Given the description of an element on the screen output the (x, y) to click on. 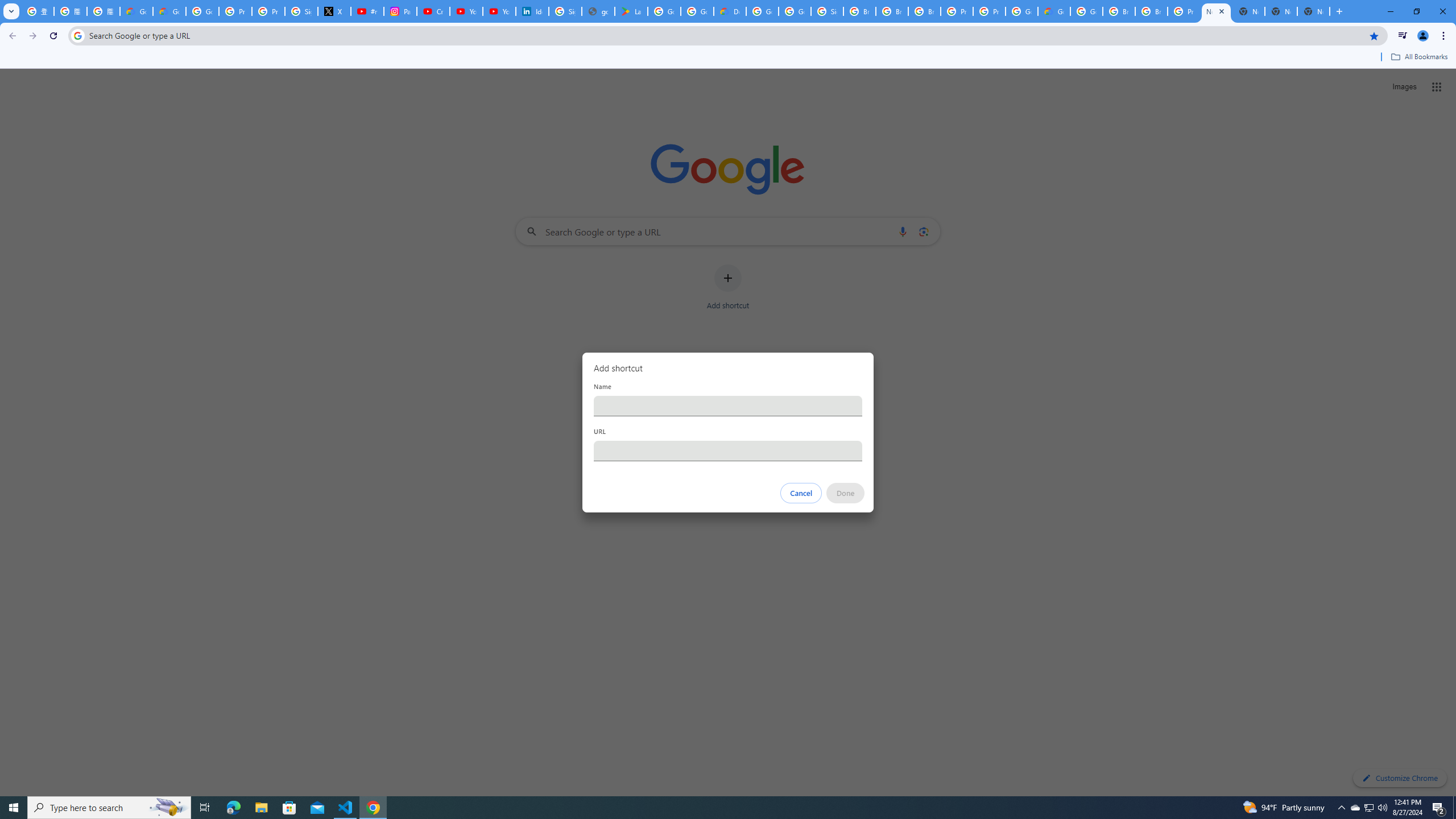
Google Cloud Privacy Notice (169, 11)
Sign in - Google Accounts (564, 11)
All Bookmarks (1418, 56)
Browse Chrome as a guest - Computer - Google Chrome Help (859, 11)
Google Cloud Platform (1086, 11)
Control your music, videos, and more (1402, 35)
Last Shelter: Survival - Apps on Google Play (631, 11)
Google Cloud Platform (762, 11)
